Given the description of an element on the screen output the (x, y) to click on. 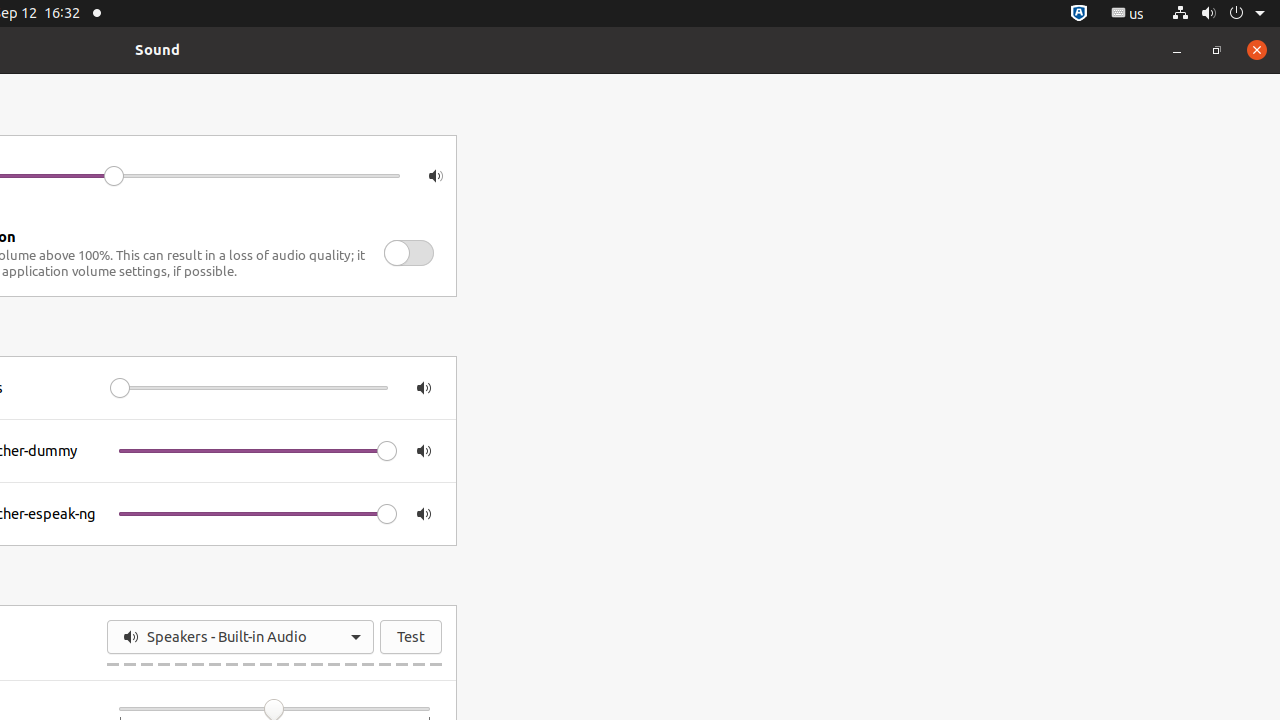
Speakers - Built-in Audio Element type: combo-box (240, 637)
Minimize Element type: push-button (1177, 50)
Close Element type: push-button (1257, 50)
Sound Element type: label (157, 49)
